Given the description of an element on the screen output the (x, y) to click on. 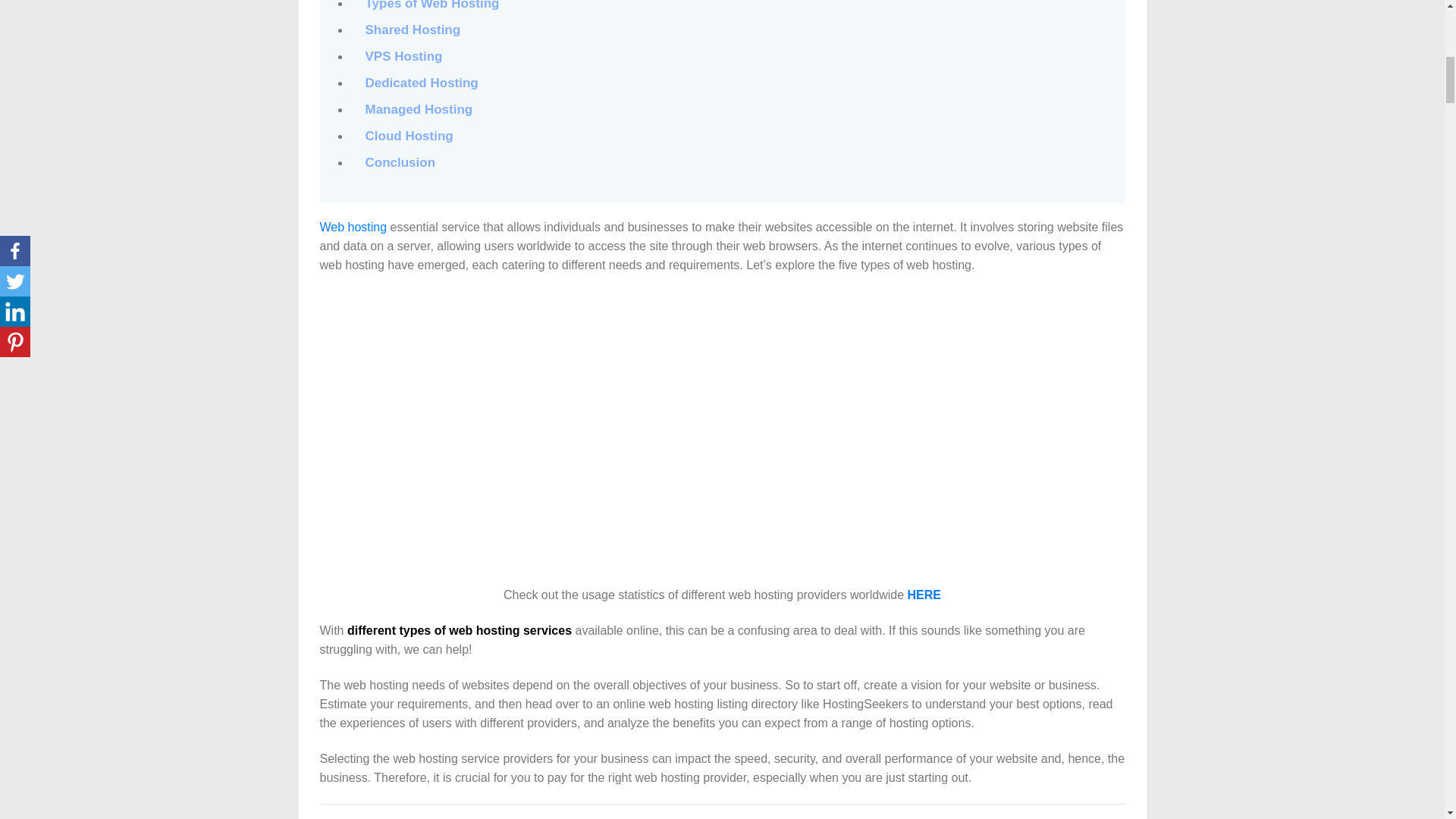
HERE (923, 594)
VPS Hosting (403, 56)
Shared Hosting (413, 29)
Cloud Hosting (408, 135)
Conclusion (400, 162)
Dedicated Hosting (422, 82)
Managed Hosting (419, 108)
Types of Web Hosting (432, 6)
Web hosting (353, 226)
